Given the description of an element on the screen output the (x, y) to click on. 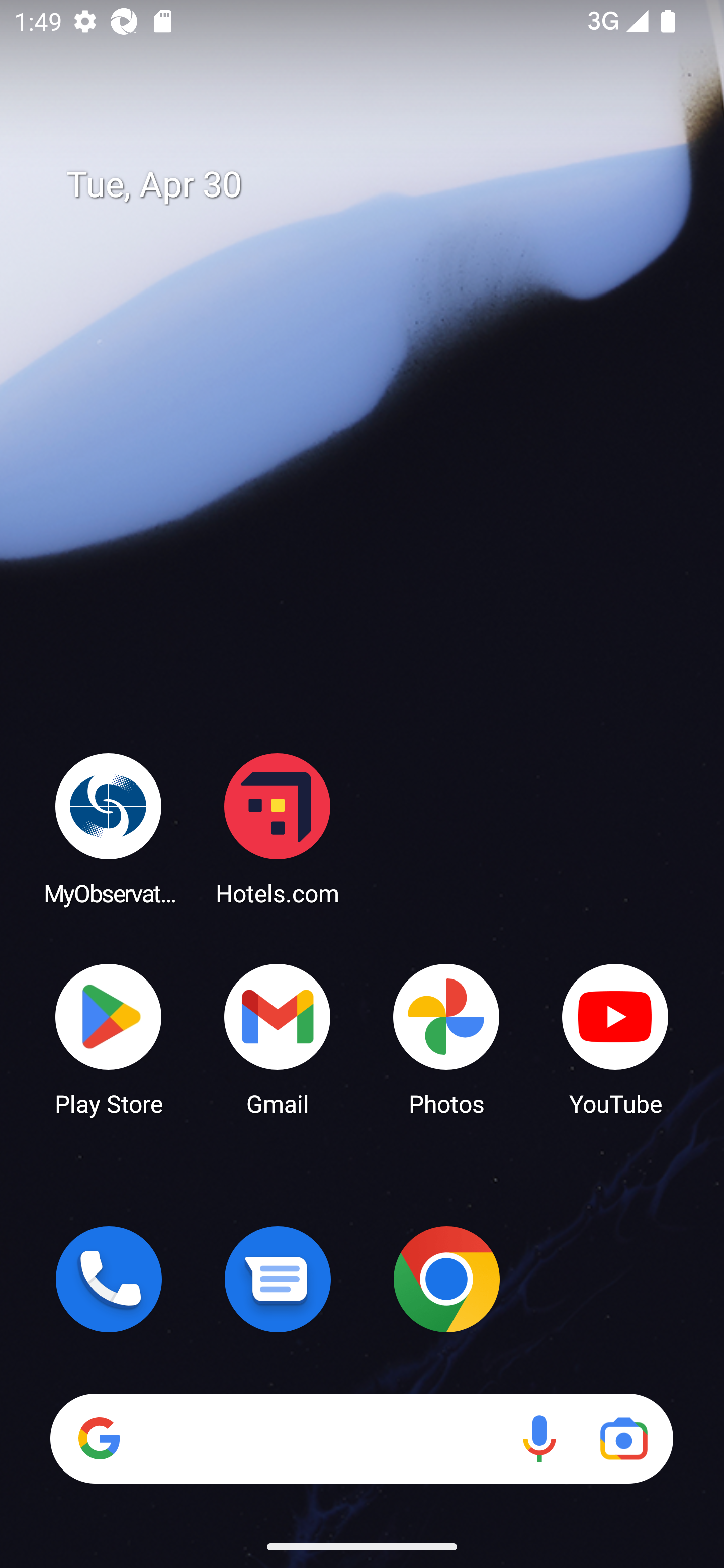
Tue, Apr 30 (375, 184)
MyObservatory (108, 828)
Hotels.com (277, 828)
Play Store (108, 1038)
Gmail (277, 1038)
Photos (445, 1038)
YouTube (615, 1038)
Phone (108, 1279)
Messages (277, 1279)
Chrome (446, 1279)
Voice search (539, 1438)
Google Lens (623, 1438)
